Given the description of an element on the screen output the (x, y) to click on. 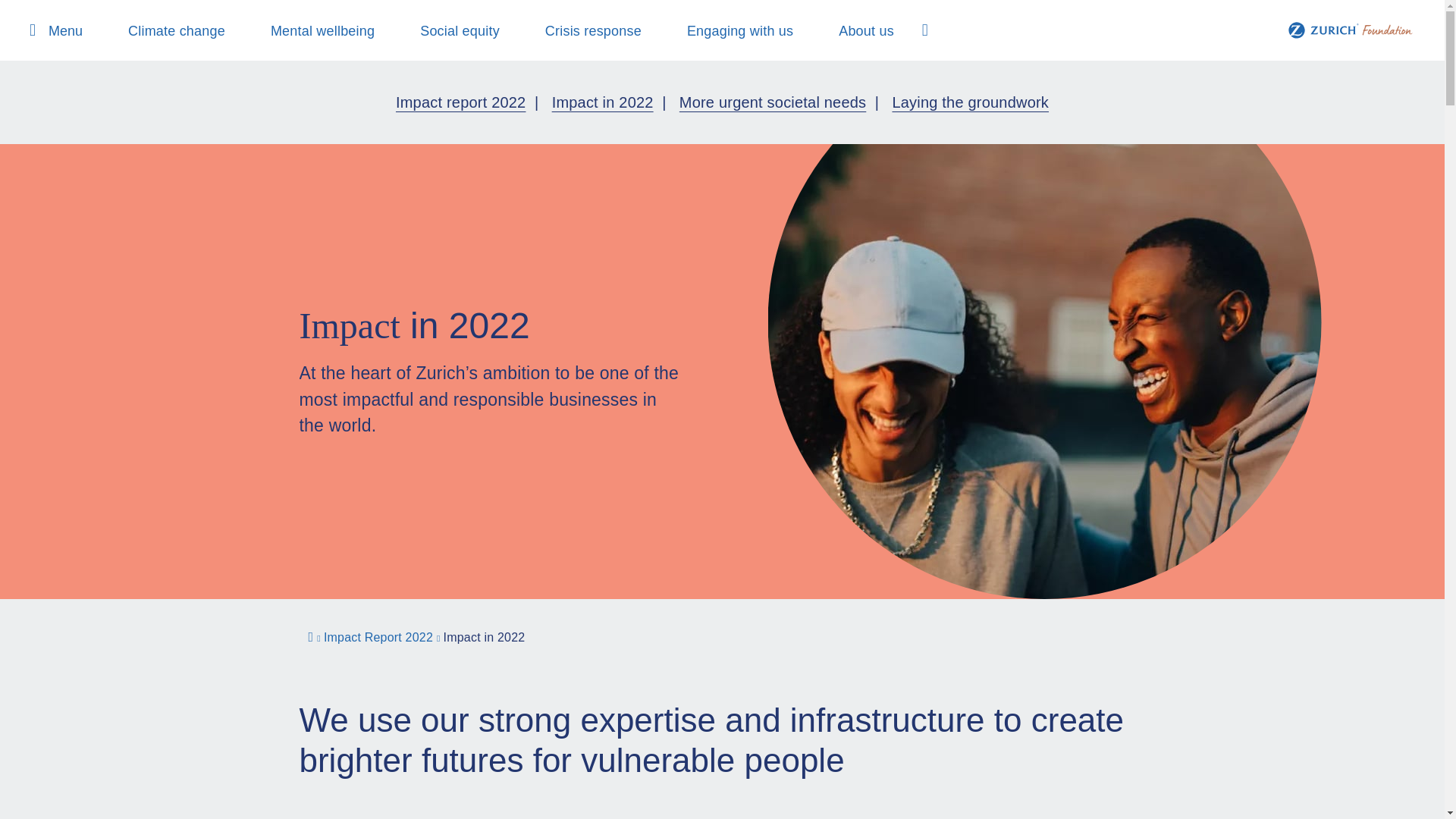
Crisis response (582, 30)
Climate change (164, 30)
Climate change (164, 30)
About us (854, 30)
Mental wellbeing (310, 30)
About us (854, 30)
Engaging with us (728, 30)
Mental wellbeing (310, 30)
Menu (53, 31)
Social equity (448, 30)
